Given the description of an element on the screen output the (x, y) to click on. 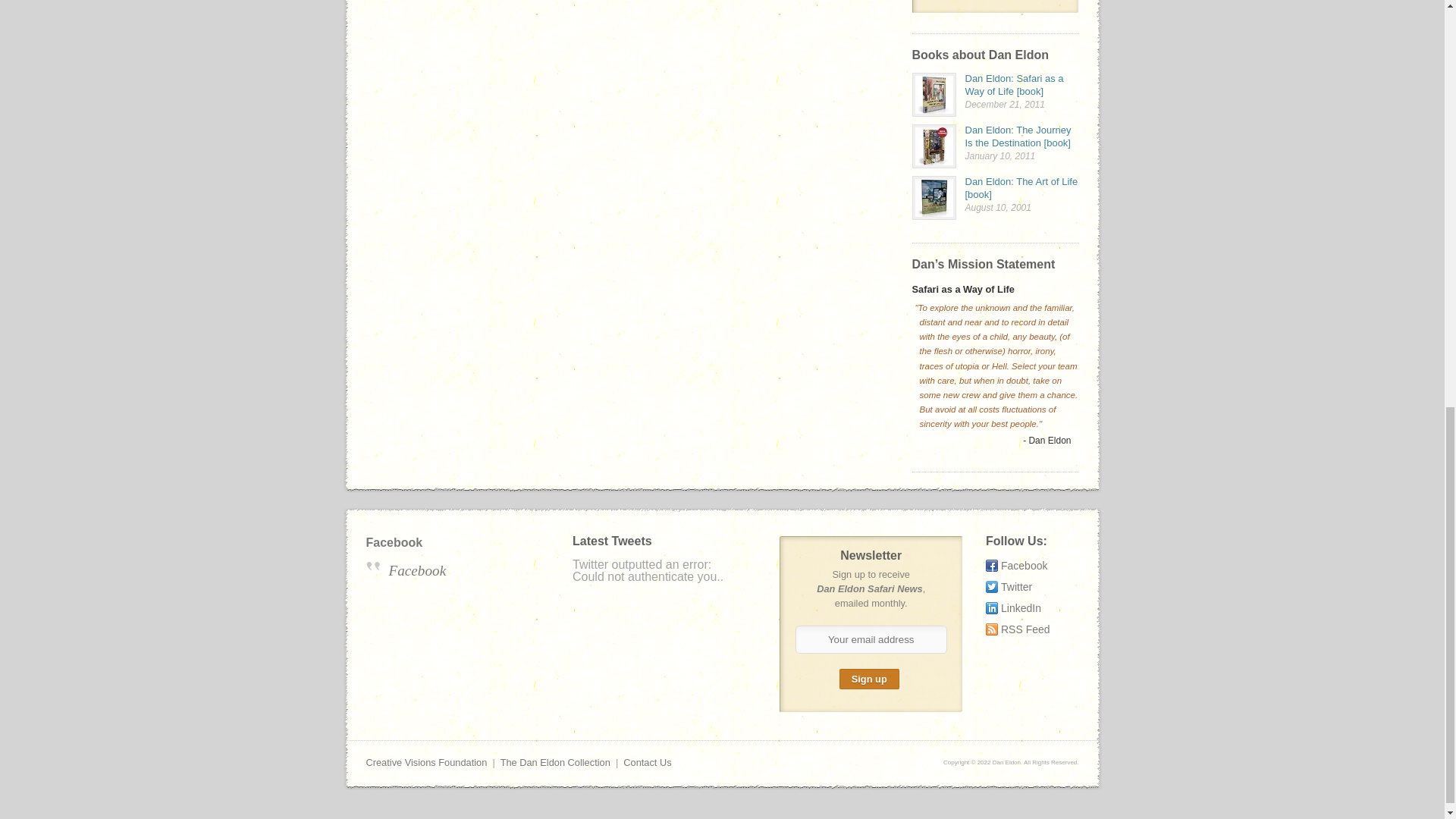
Sign up (869, 679)
